Given the description of an element on the screen output the (x, y) to click on. 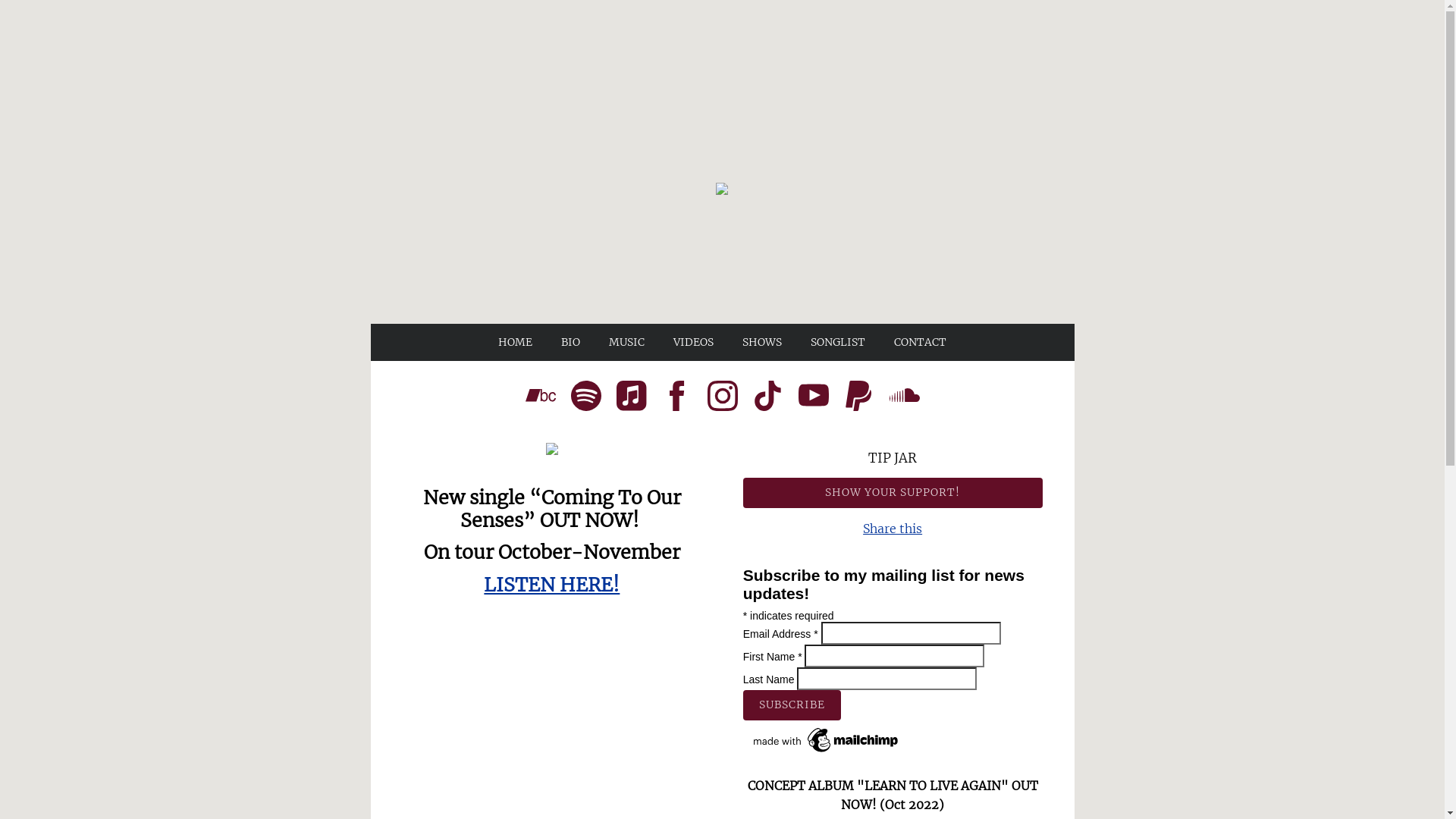
SHOW YOUR SUPPORT! Element type: text (892, 492)
https://www.tiktok.com/@joshuabattenmusic Element type: hover (767, 397)
https://open.spotify.com/artist/0YgfNdH17gdzoVBrl3DwXK Element type: hover (585, 397)
VIDEOS Element type: text (693, 341)
HOME Element type: text (514, 341)
SHOWS Element type: text (761, 341)
https://music.apple.com/au/artist/joshua-batten/888237652 Element type: hover (630, 397)
LISTEN HERE! Element type: text (551, 584)
Share this Element type: text (892, 528)
BIO Element type: text (570, 341)
https://paypal.me/joshuabatten Element type: hover (858, 397)
Mailchimp - email marketing made easy and fun Element type: hover (826, 754)
https://soundcloud.com/joshua-batten Element type: hover (903, 397)
http://www.facebook.com/joshuabattenmusic Element type: hover (676, 397)
SONGLIST Element type: text (837, 341)
http://joshuabatten.bandcamp.com/ Element type: hover (539, 397)
MUSIC Element type: text (626, 341)
http://instagram.com/joshuabattenmusic Element type: hover (721, 397)
CONTACT Element type: text (920, 341)
Subscribe Element type: text (791, 705)
http://www.youtube.com/joshuabattenmusic Element type: hover (812, 397)
